Given the description of an element on the screen output the (x, y) to click on. 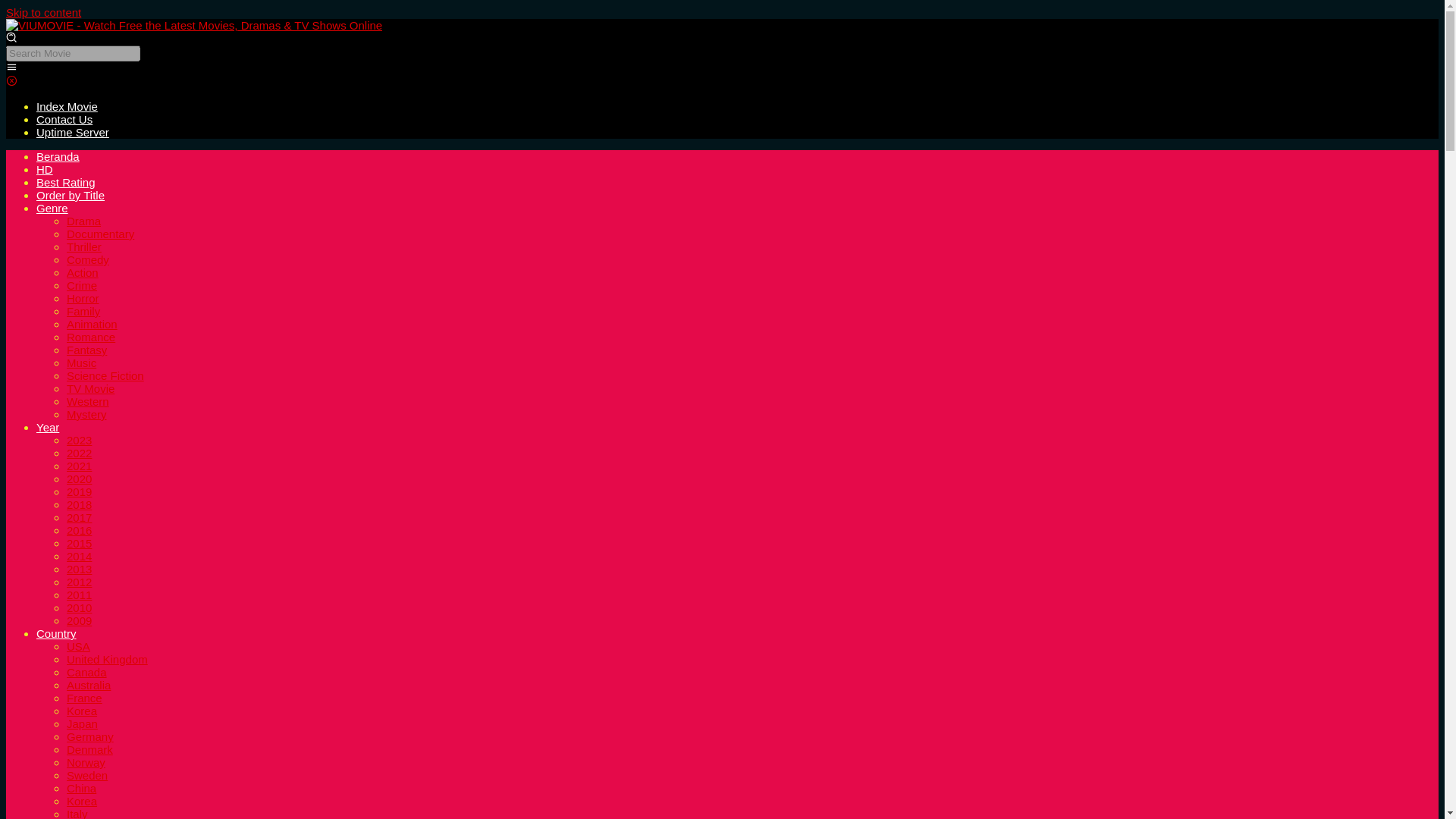
Genre (52, 207)
Uptime Server (72, 132)
Year (47, 427)
Animation (91, 323)
2020 (78, 478)
2019 (78, 491)
Contact Us (64, 119)
Family (83, 310)
Action (82, 272)
Crime (81, 285)
Western (87, 400)
HD (44, 169)
Order by Title (70, 195)
Music (81, 362)
Beranda (58, 155)
